Given the description of an element on the screen output the (x, y) to click on. 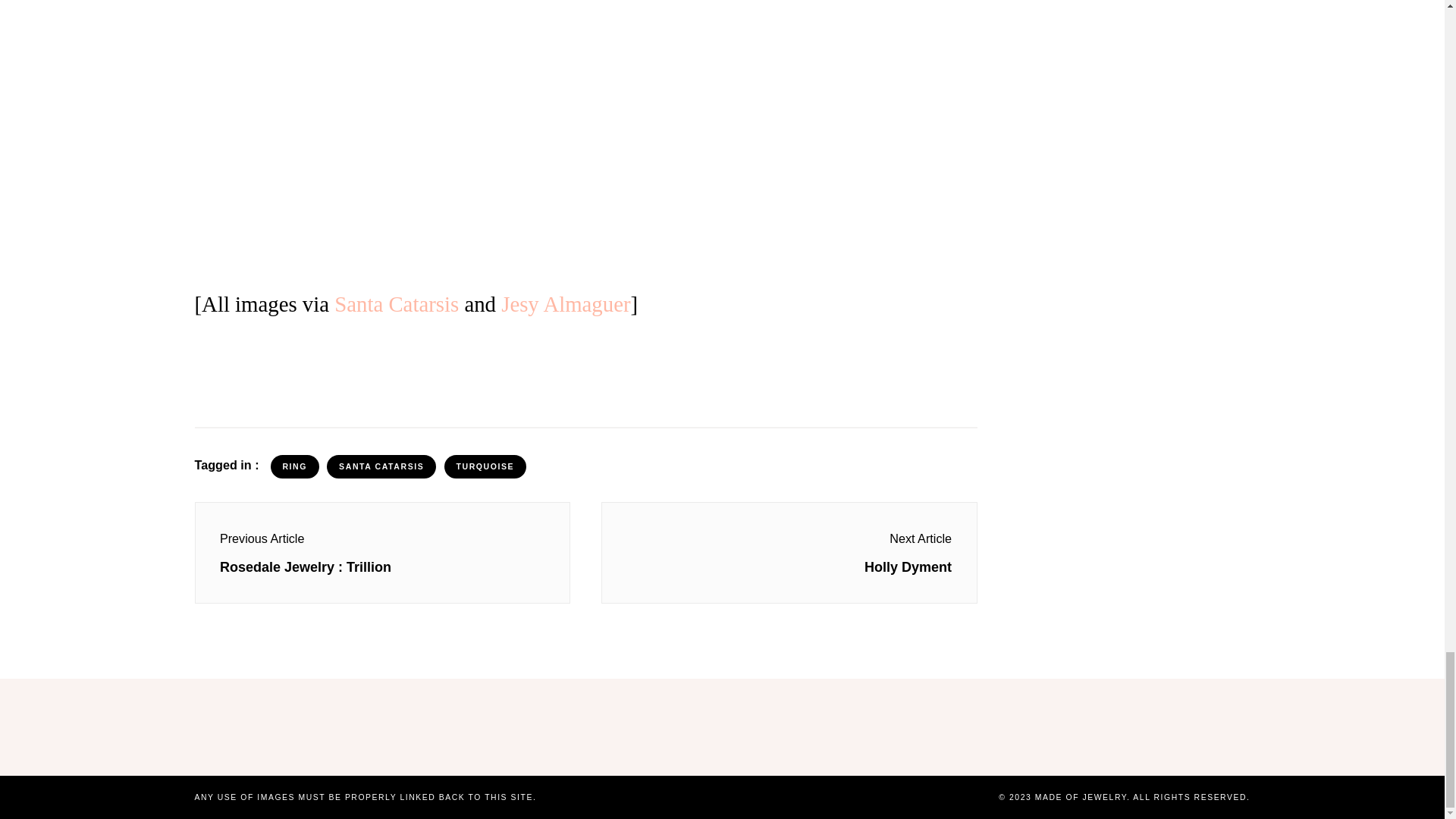
RING (294, 467)
SANTA CATARSIS (380, 467)
Jesy Almaguer (565, 303)
Santa Catarsis (396, 303)
